Given the description of an element on the screen output the (x, y) to click on. 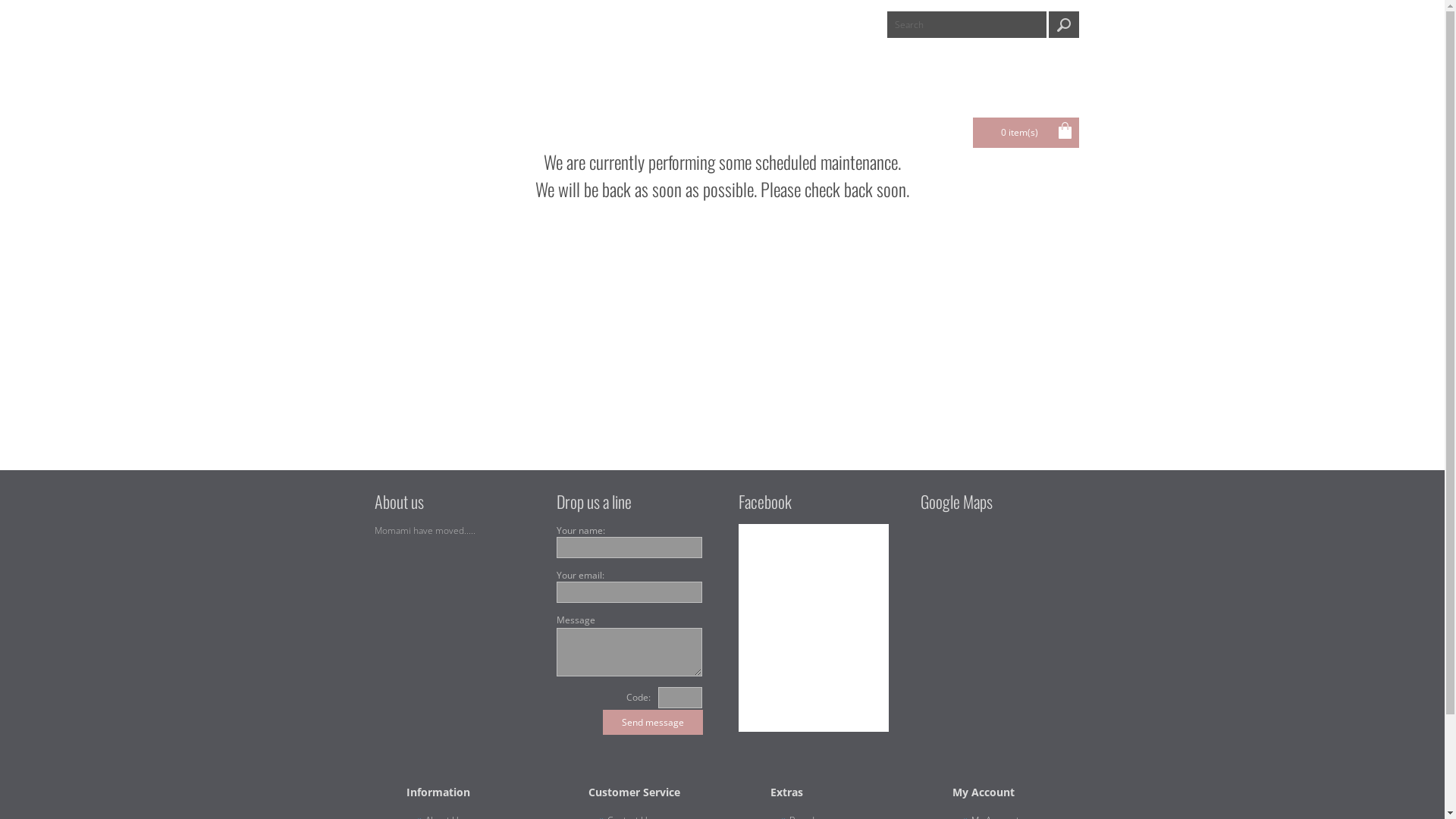
0 item(s) Element type: text (1025, 132)
Send message Element type: text (652, 721)
